Given the description of an element on the screen output the (x, y) to click on. 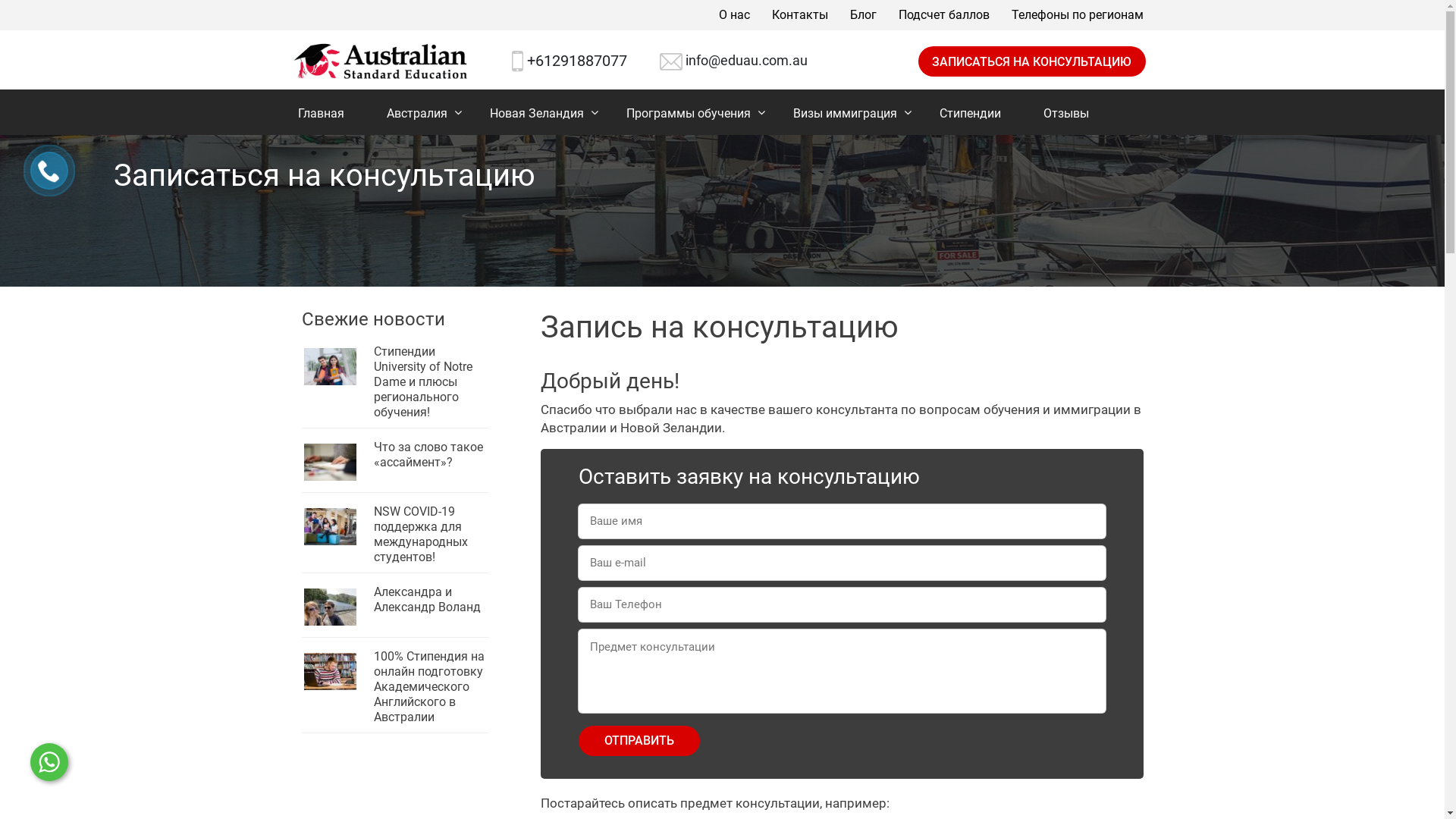
+61291887077 Element type: text (577, 60)
